Given the description of an element on the screen output the (x, y) to click on. 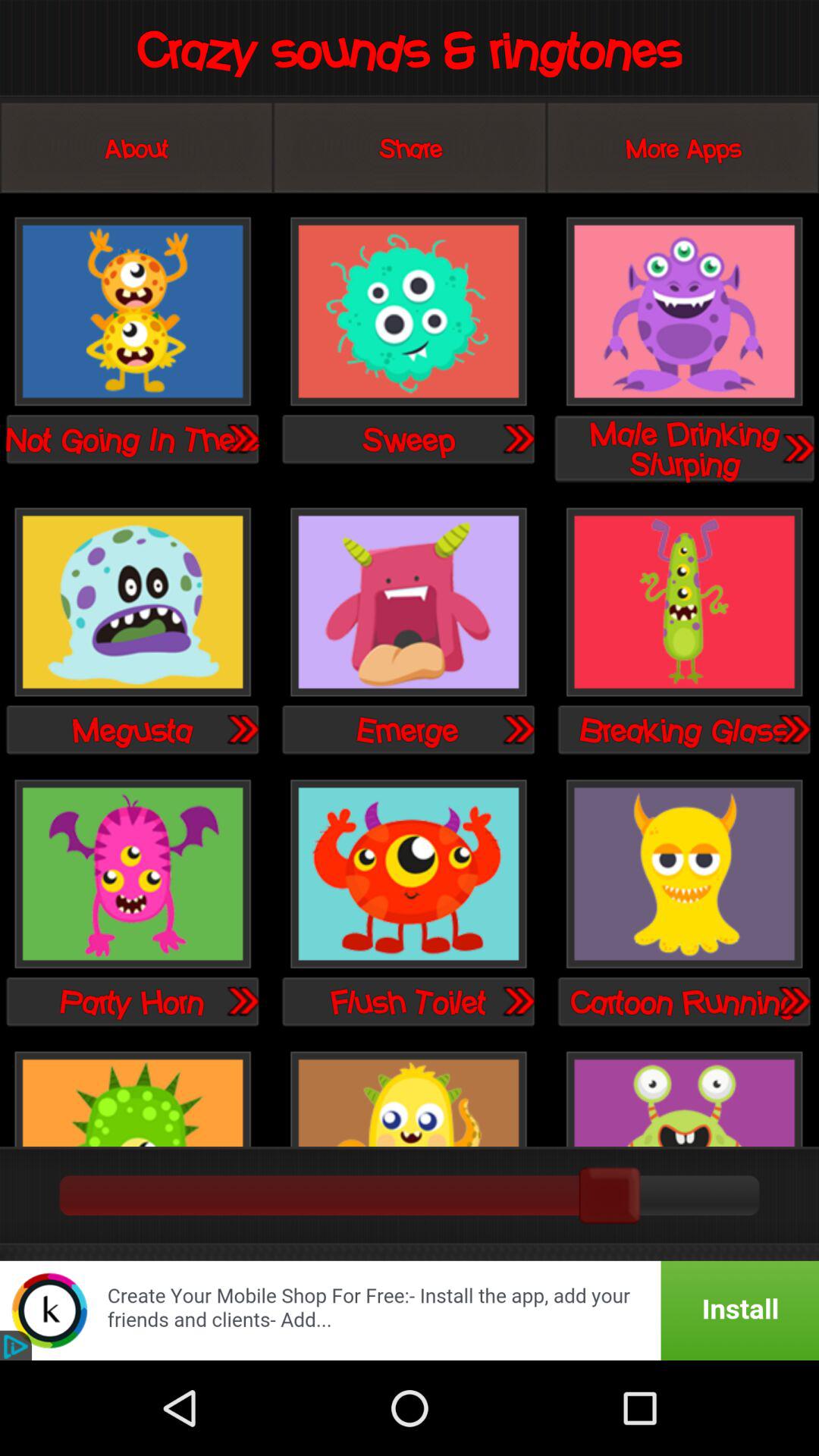
set ringtone to breaking glass (684, 602)
